Given the description of an element on the screen output the (x, y) to click on. 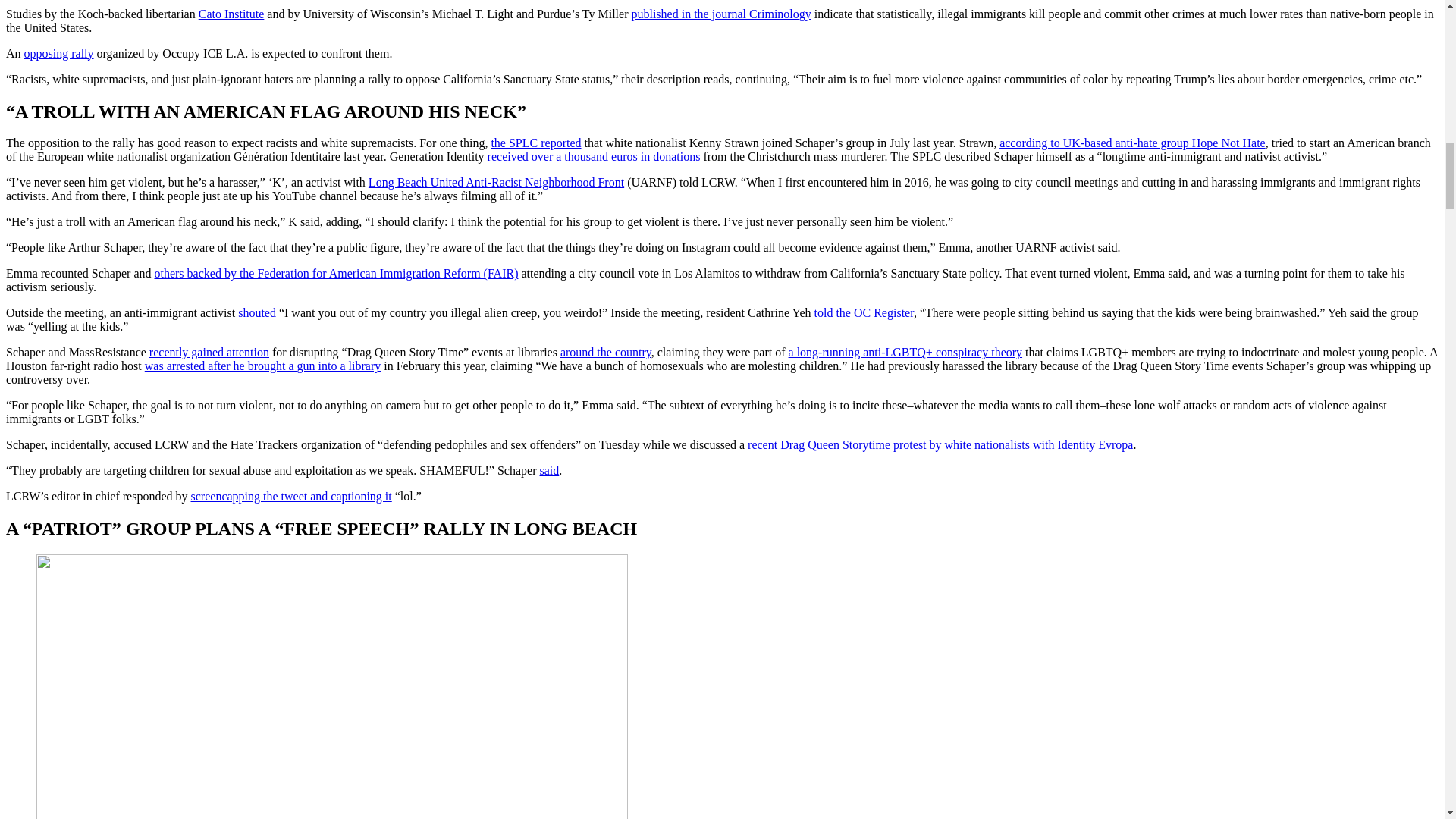
according to UK-based anti-hate group Hope Not Hate (1131, 142)
shouted (257, 312)
received over a thousand euros in donations (593, 155)
told the OC Register (863, 312)
recently gained attention (209, 351)
the SPLC reported (535, 142)
Cato Institute (231, 13)
Long Beach United Anti-Racist Neighborhood Front (496, 182)
published in the journal Criminology (720, 13)
opposing rally (59, 52)
